Given the description of an element on the screen output the (x, y) to click on. 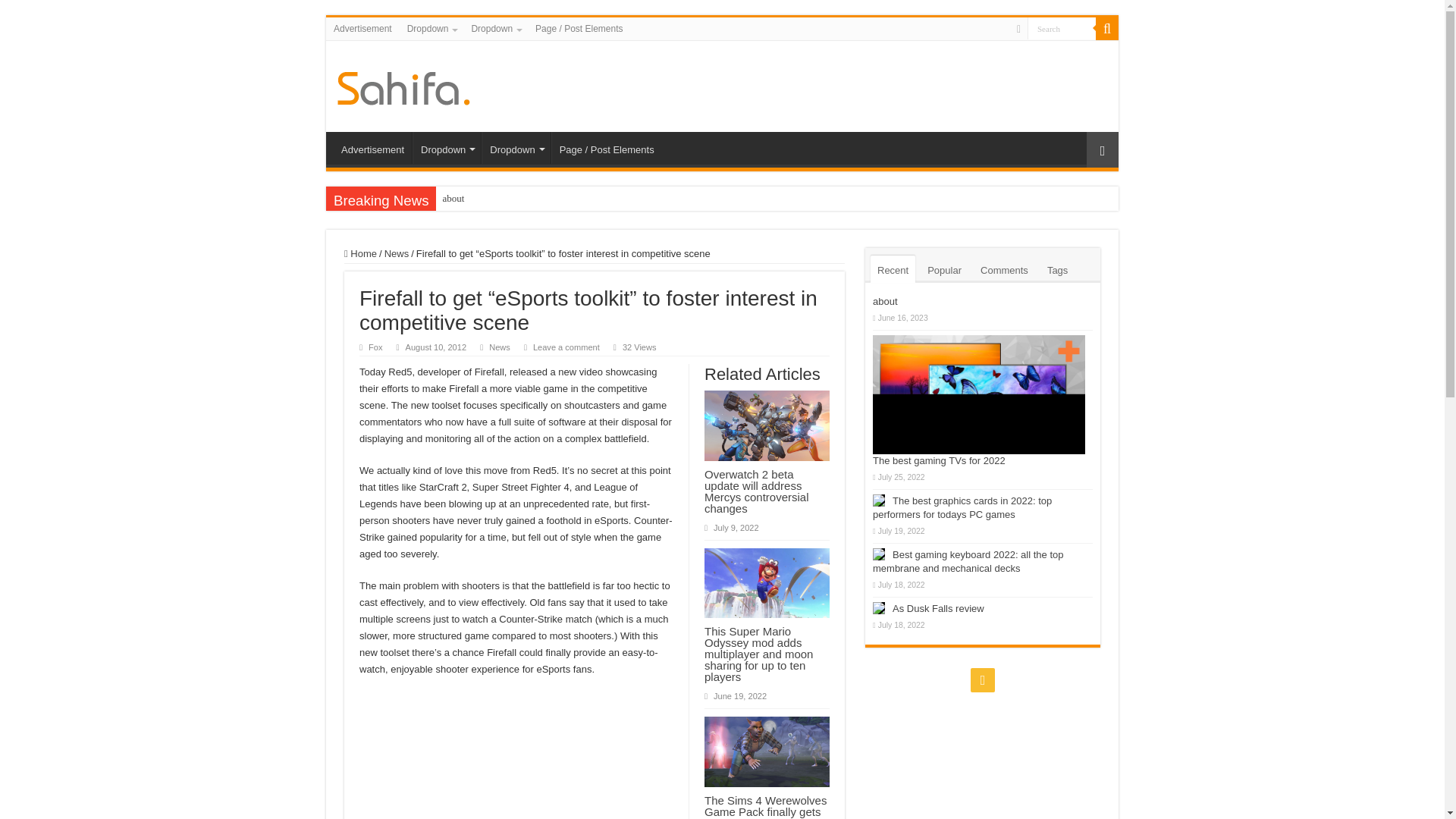
Advertisement (362, 28)
Dropdown (431, 28)
Search (1061, 28)
Search (1107, 28)
Search (1061, 28)
Dropdown (495, 28)
Search (1061, 28)
Game News (403, 85)
Dropdown (446, 147)
about (452, 198)
